Given the description of an element on the screen output the (x, y) to click on. 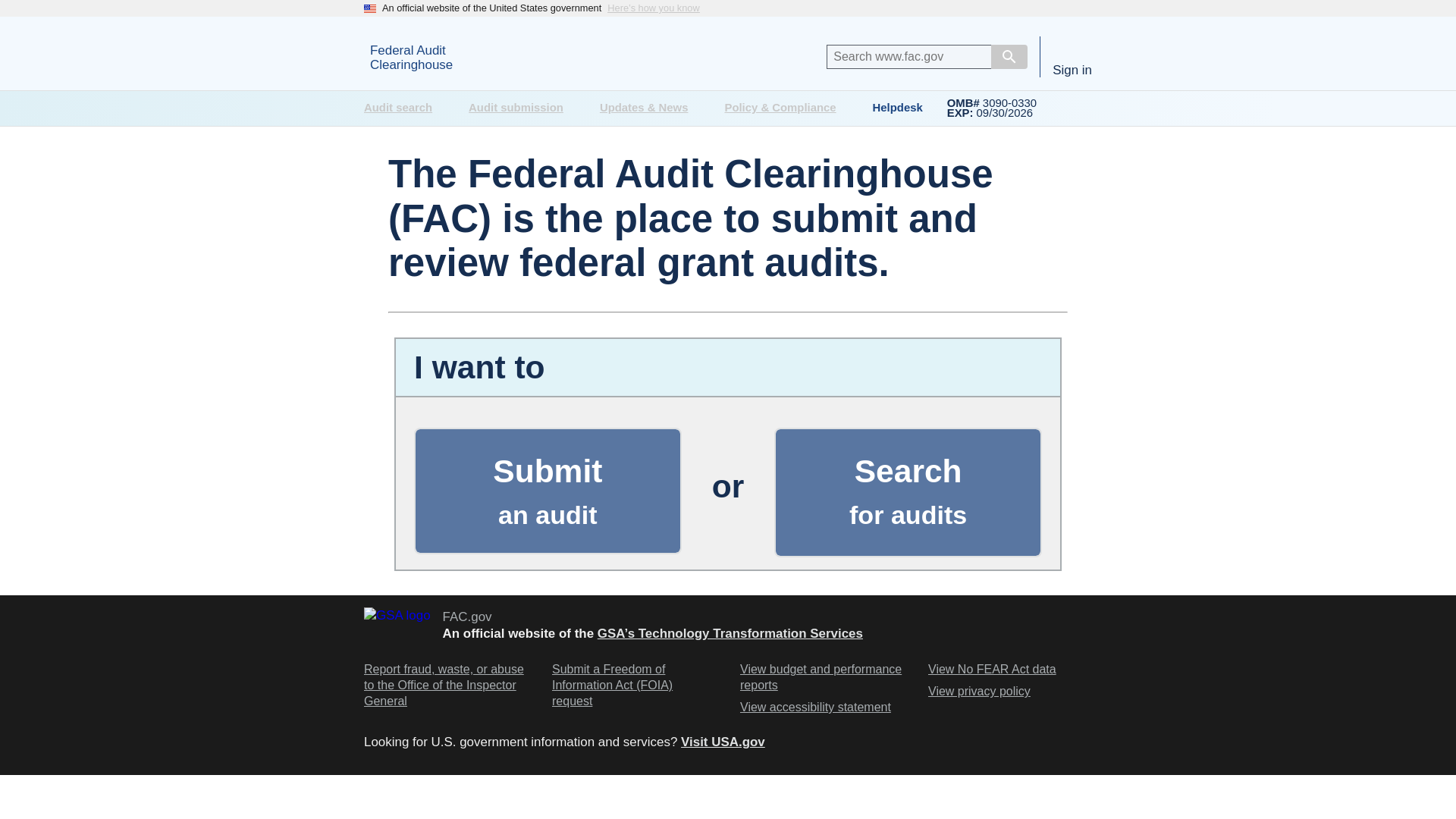
View privacy policy (979, 691)
Audit search (404, 107)
View accessibility statement (815, 707)
View accessibility statement (908, 490)
View budget and performance reports (815, 707)
View No FEAR Act data (821, 677)
View privacy policy (484, 56)
Audit submission (546, 490)
View No FEAR Act data (992, 669)
Helpdesk (979, 691)
View budget and performance reports (522, 107)
